Given the description of an element on the screen output the (x, y) to click on. 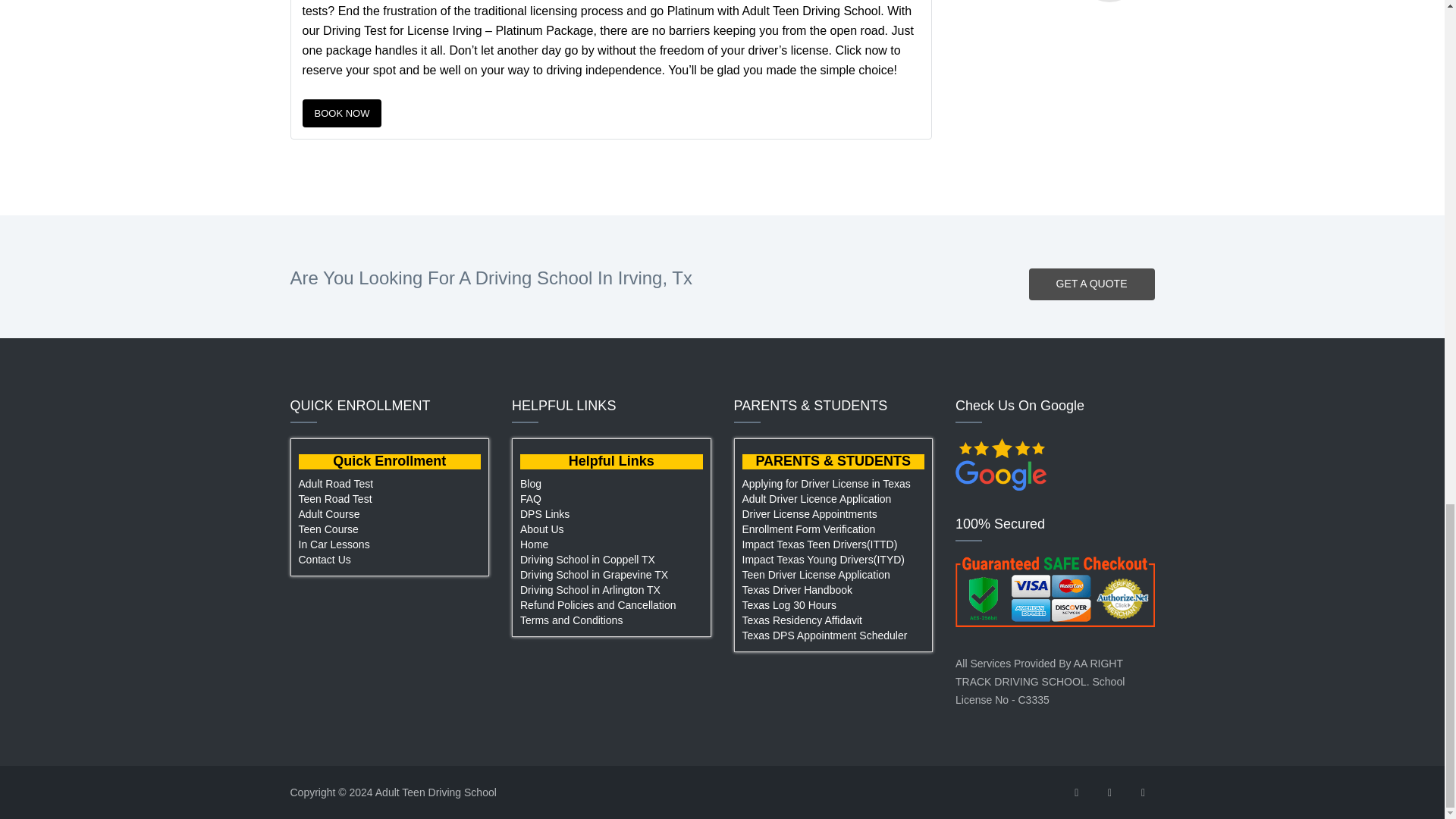
Teen Road Test (389, 500)
BOOK NOW (341, 113)
Adult Road Test (389, 485)
GET A QUOTE (1091, 284)
